Given the description of an element on the screen output the (x, y) to click on. 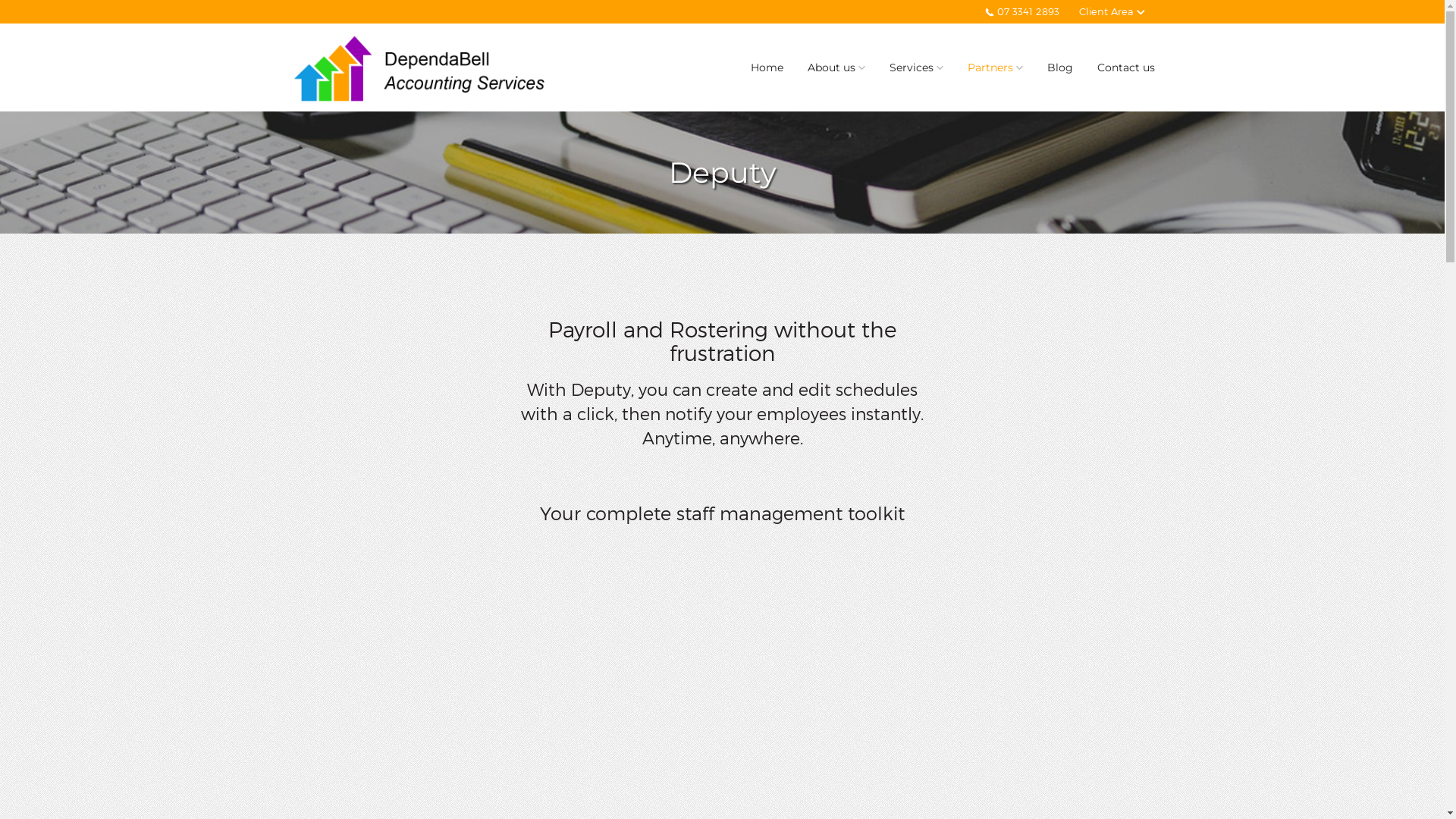
Contact us Element type: text (1125, 67)
Home Element type: text (766, 67)
07 3341 2893 Element type: text (1022, 11)
Blog Element type: text (1059, 67)
Partners  Element type: text (995, 67)
Services  Element type: text (916, 67)
Client Area Element type: text (1112, 11)
About us  Element type: text (836, 67)
